Given the description of an element on the screen output the (x, y) to click on. 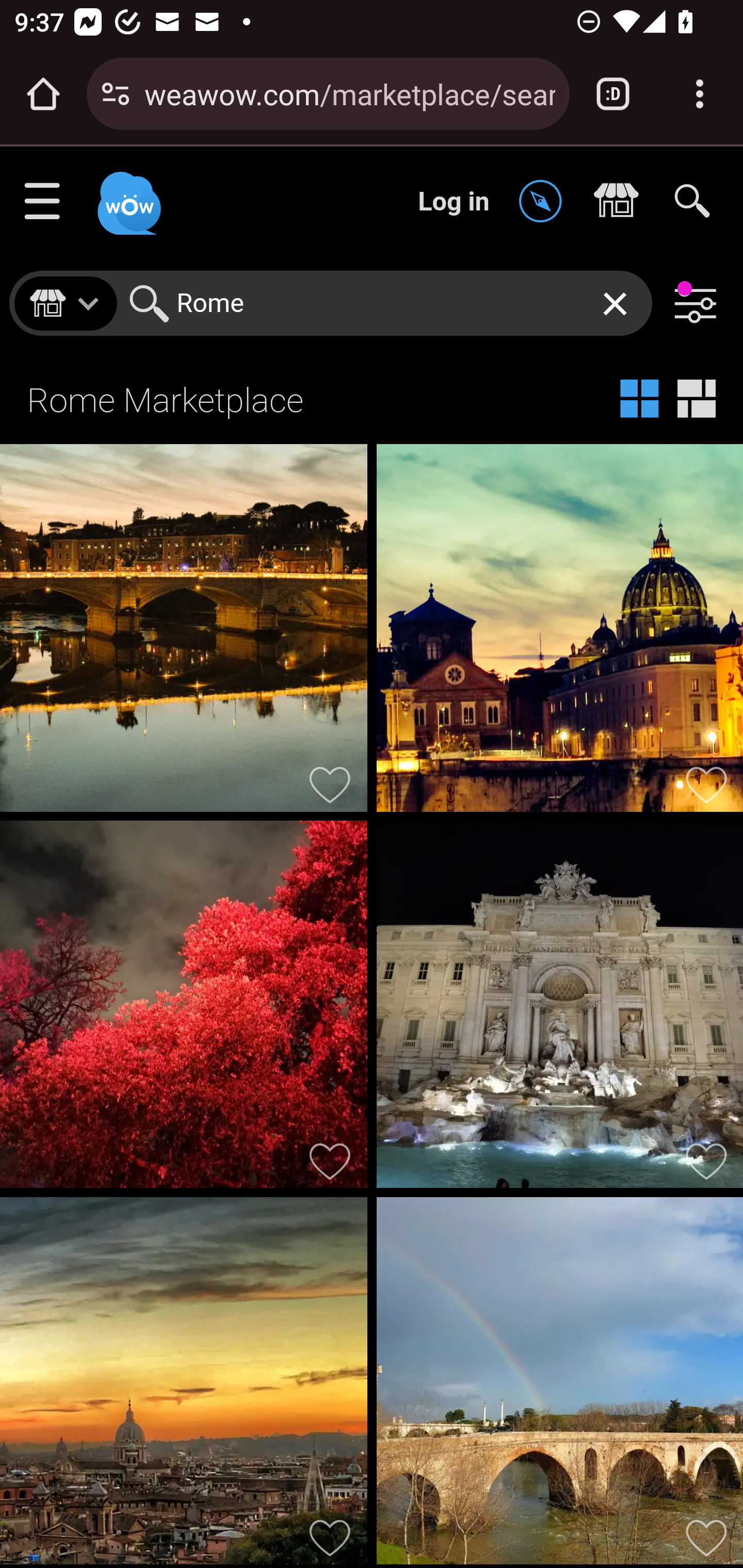
Open the home page (43, 93)
Connection is secure (115, 93)
Switch or close tabs (612, 93)
Customize and control Google Chrome (699, 93)
weawow.com/marketplace/search/Rome (349, 92)
Weawow (127, 194)
 (545, 201)
 (621, 201)
Log in (453, 201)
Rome (386, 303)
